Given the description of an element on the screen output the (x, y) to click on. 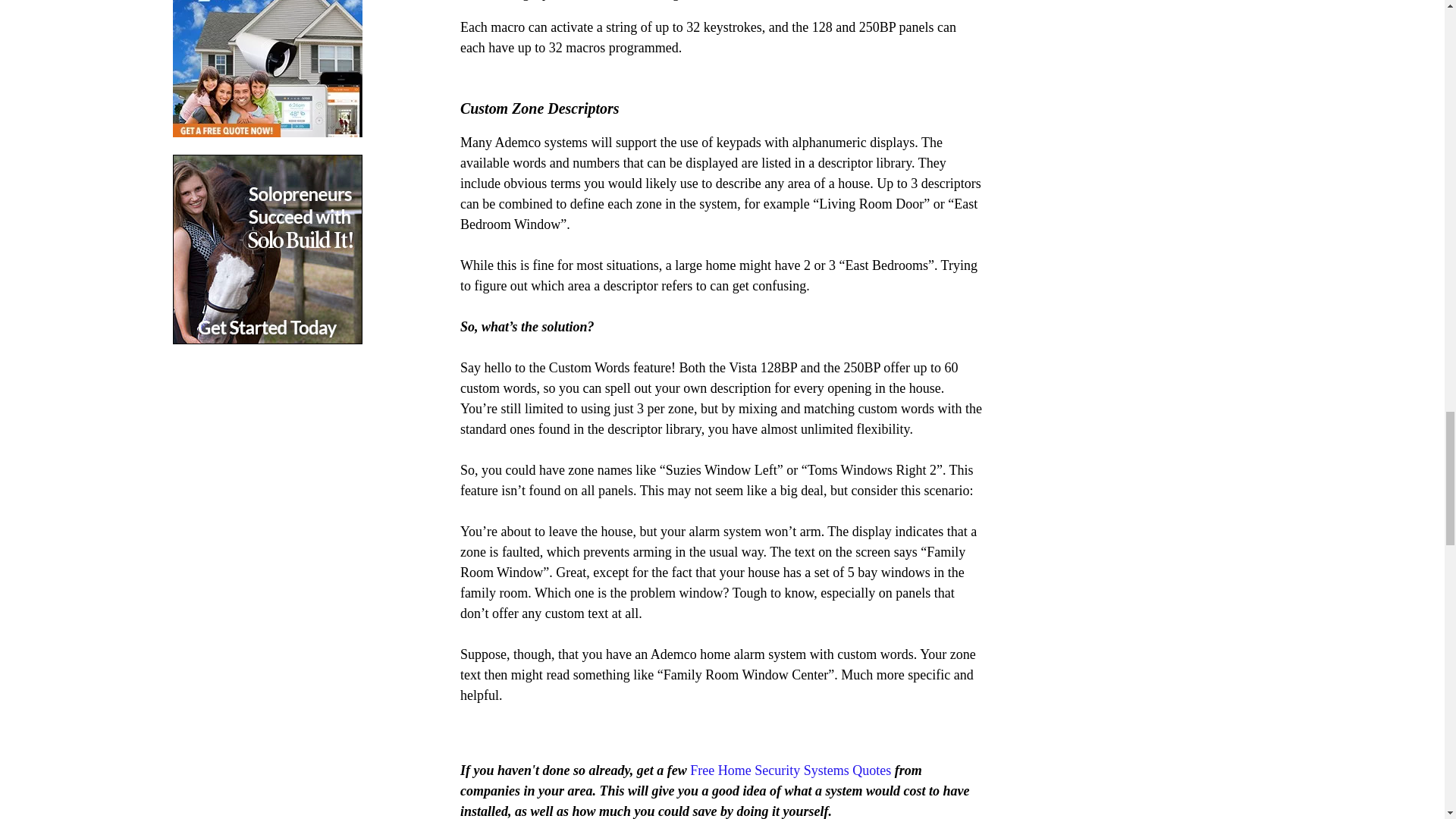
Link Interactive - Security and home automation made easy. (267, 68)
Free Home Security Systems Quotes (790, 770)
